Given the description of an element on the screen output the (x, y) to click on. 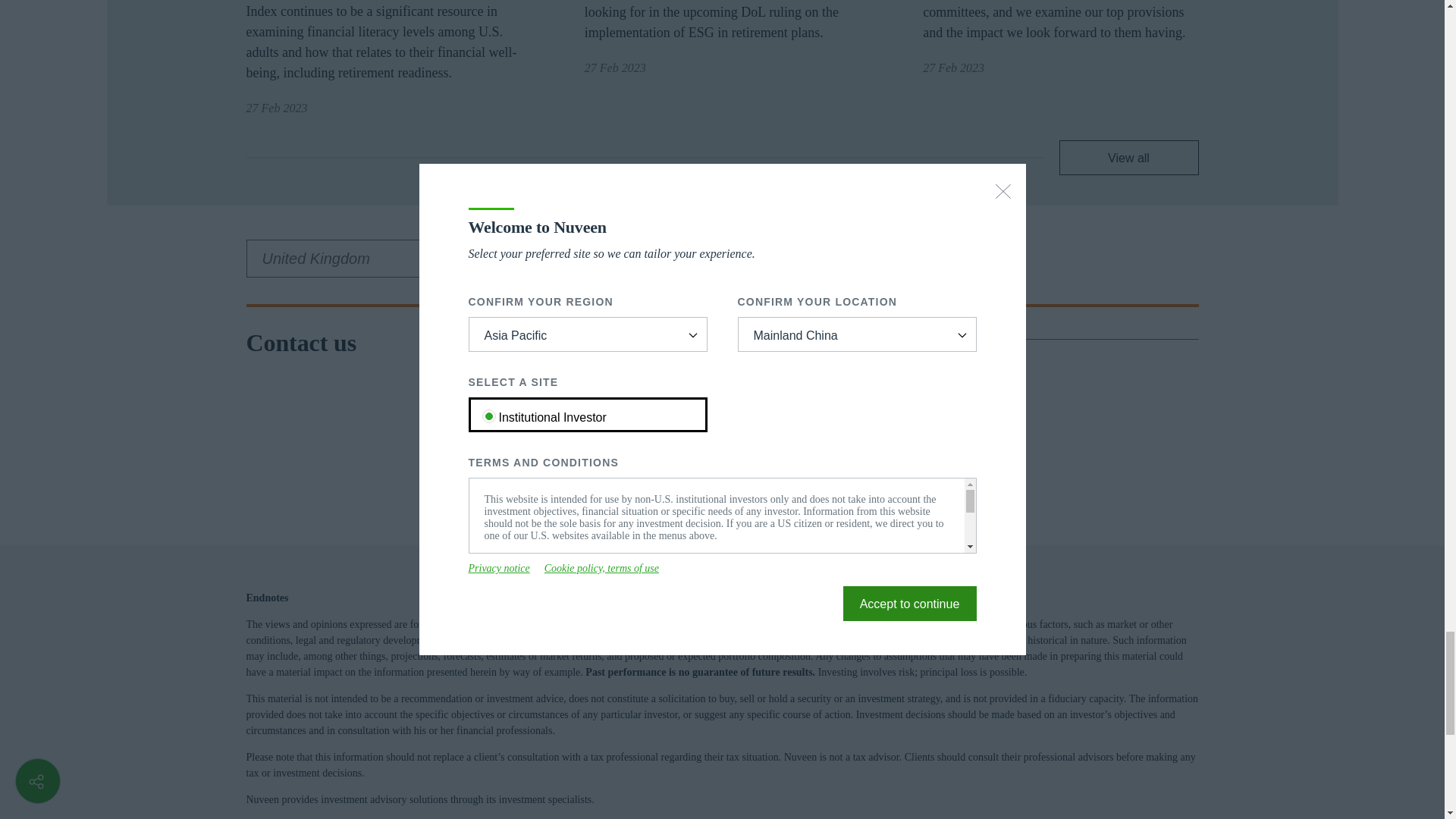
View all (1128, 157)
